Given the description of an element on the screen output the (x, y) to click on. 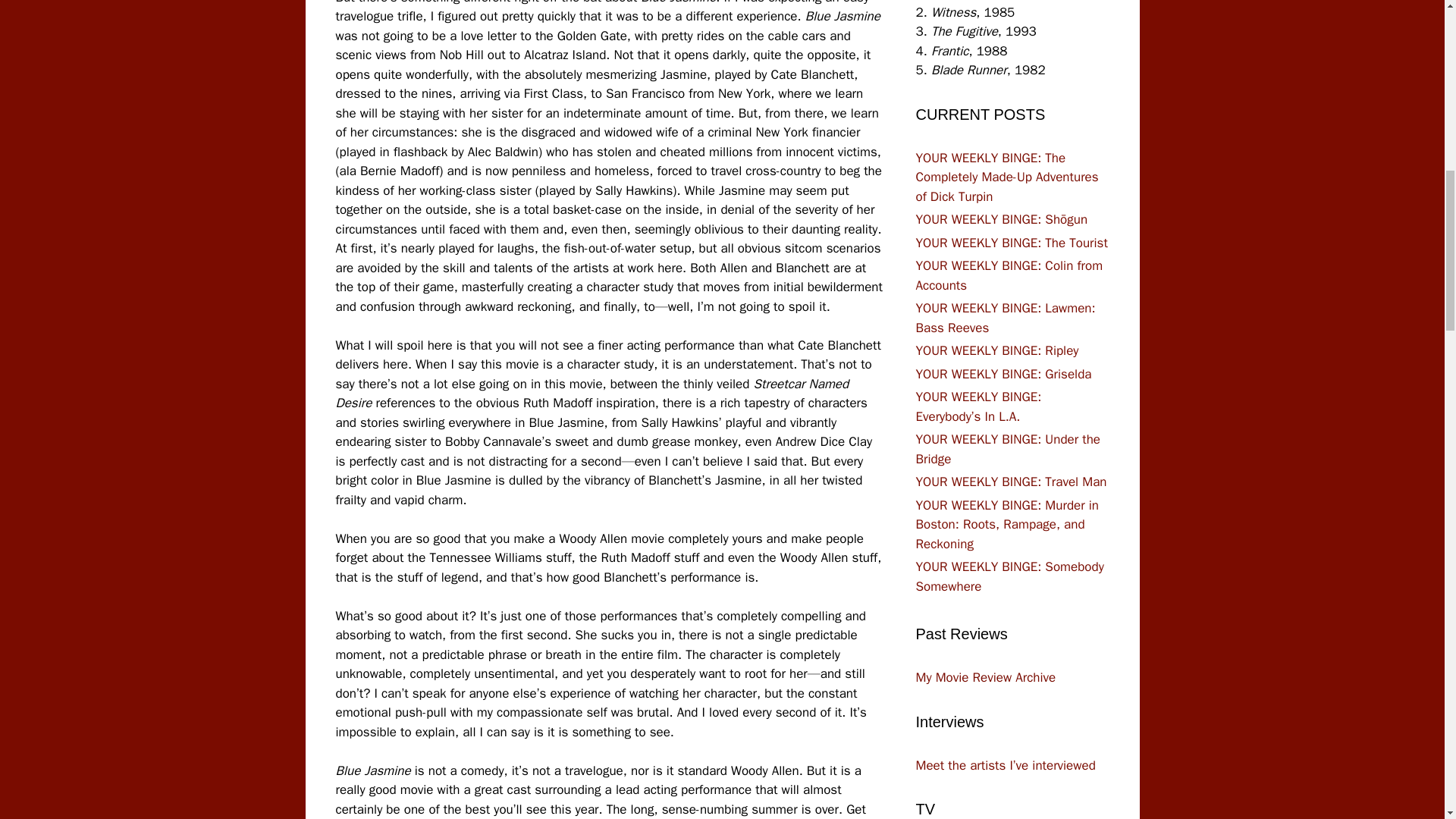
My Movie Review Archive (986, 677)
YOUR WEEKLY BINGE: Colin from Accounts (1009, 275)
YOUR WEEKLY BINGE: Under the Bridge (1007, 448)
YOUR WEEKLY BINGE: The Tourist (1011, 242)
YOUR WEEKLY BINGE: Somebody Somewhere (1009, 576)
YOUR WEEKLY BINGE: Griselda (1003, 373)
YOUR WEEKLY BINGE: Lawmen: Bass Reeves (1005, 317)
YOUR WEEKLY BINGE: Travel Man (1010, 481)
YOUR WEEKLY BINGE: Ripley (996, 350)
